Given the description of an element on the screen output the (x, y) to click on. 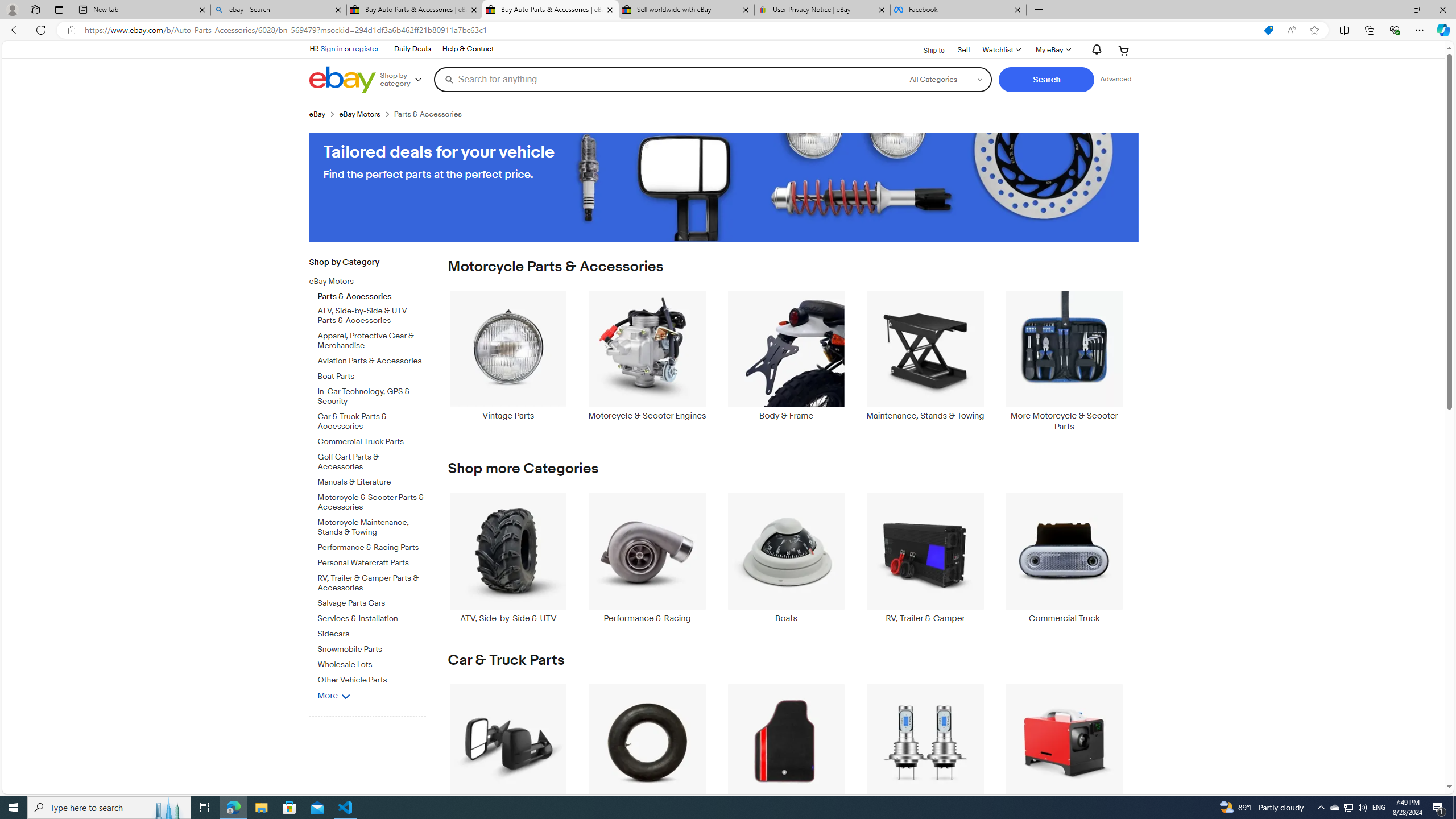
Other Vehicle Parts (371, 680)
Exterior Parts & Accessories (508, 748)
Boats (786, 558)
Interior Parts & Accessories (786, 748)
Performance & Racing Parts (371, 545)
My eBay (1052, 49)
Search for anything (666, 78)
Motorcycle Maintenance, Stands & Towing (371, 527)
Ship to (926, 49)
Manuals & Literature (371, 482)
Sidecars (371, 633)
